Given the description of an element on the screen output the (x, y) to click on. 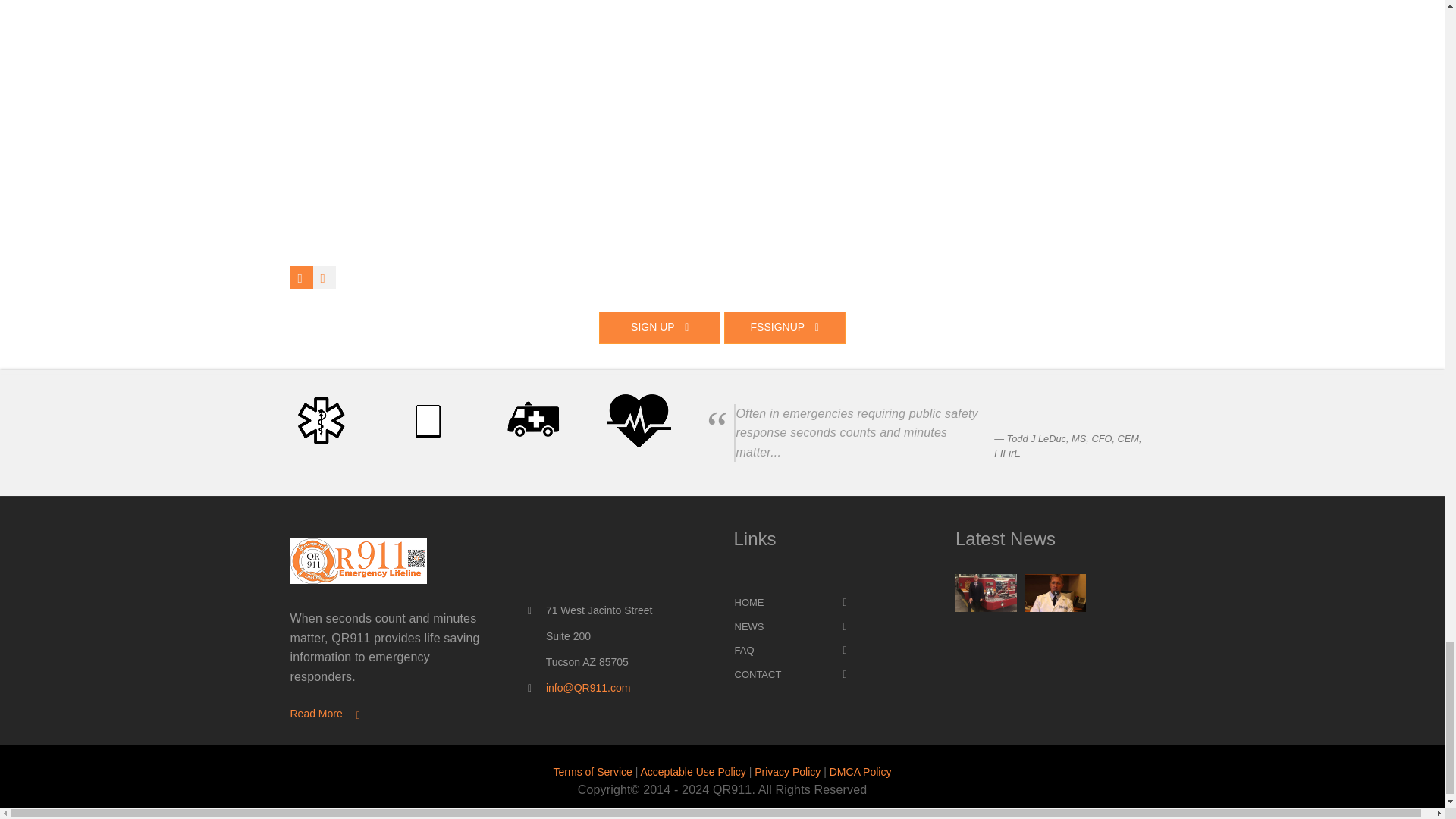
Source Title (1067, 445)
SIGN UP (659, 327)
FSSIGNUP (784, 327)
